Given the description of an element on the screen output the (x, y) to click on. 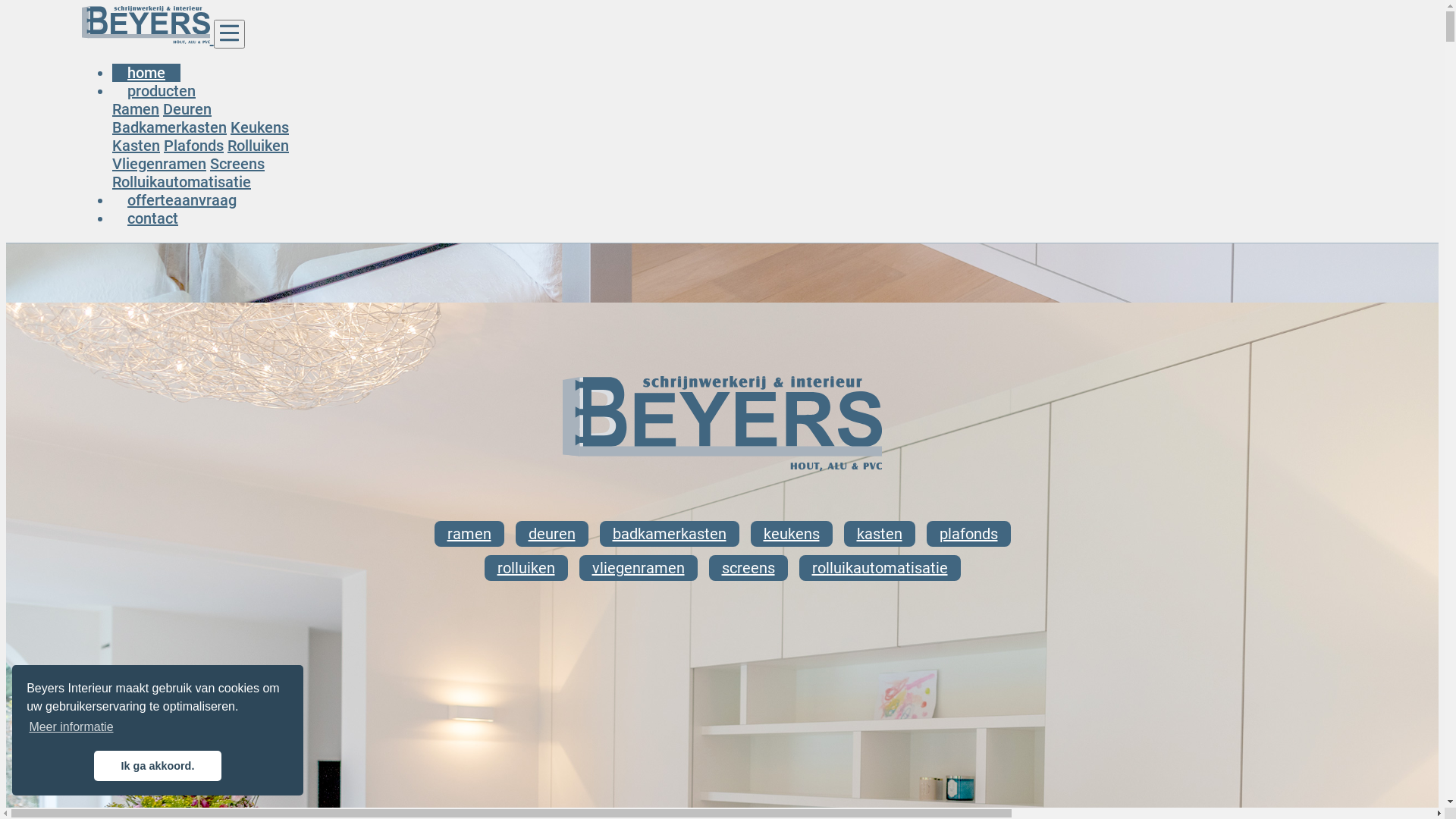
badkamerkasten Element type: text (668, 533)
contact Element type: text (152, 218)
Screens Element type: text (237, 163)
Vliegenramen Element type: text (159, 163)
Kasten Element type: text (136, 145)
Keukens Element type: text (259, 127)
screens Element type: text (747, 567)
Rolluikautomatisatie Element type: text (181, 181)
producten Element type: text (161, 90)
keukens Element type: text (791, 533)
Ramen Element type: text (135, 109)
Meer informatie Element type: text (71, 726)
home Element type: text (146, 72)
offerteaanvraag Element type: text (181, 200)
Rolluiken Element type: text (257, 145)
deuren Element type: text (551, 533)
Plafonds Element type: text (193, 145)
Beyers Interieur bv Element type: hover (722, 423)
Deuren Element type: text (187, 109)
Ik ga akkoord. Element type: text (157, 765)
Beyers Interieur bv Element type: hover (145, 24)
ramen Element type: text (468, 533)
vliegenramen Element type: text (638, 567)
kasten Element type: text (878, 533)
rolluikautomatisatie Element type: text (879, 567)
Badkamerkasten Element type: text (169, 127)
plafonds Element type: text (968, 533)
rolluiken Element type: text (525, 567)
